Given the description of an element on the screen output the (x, y) to click on. 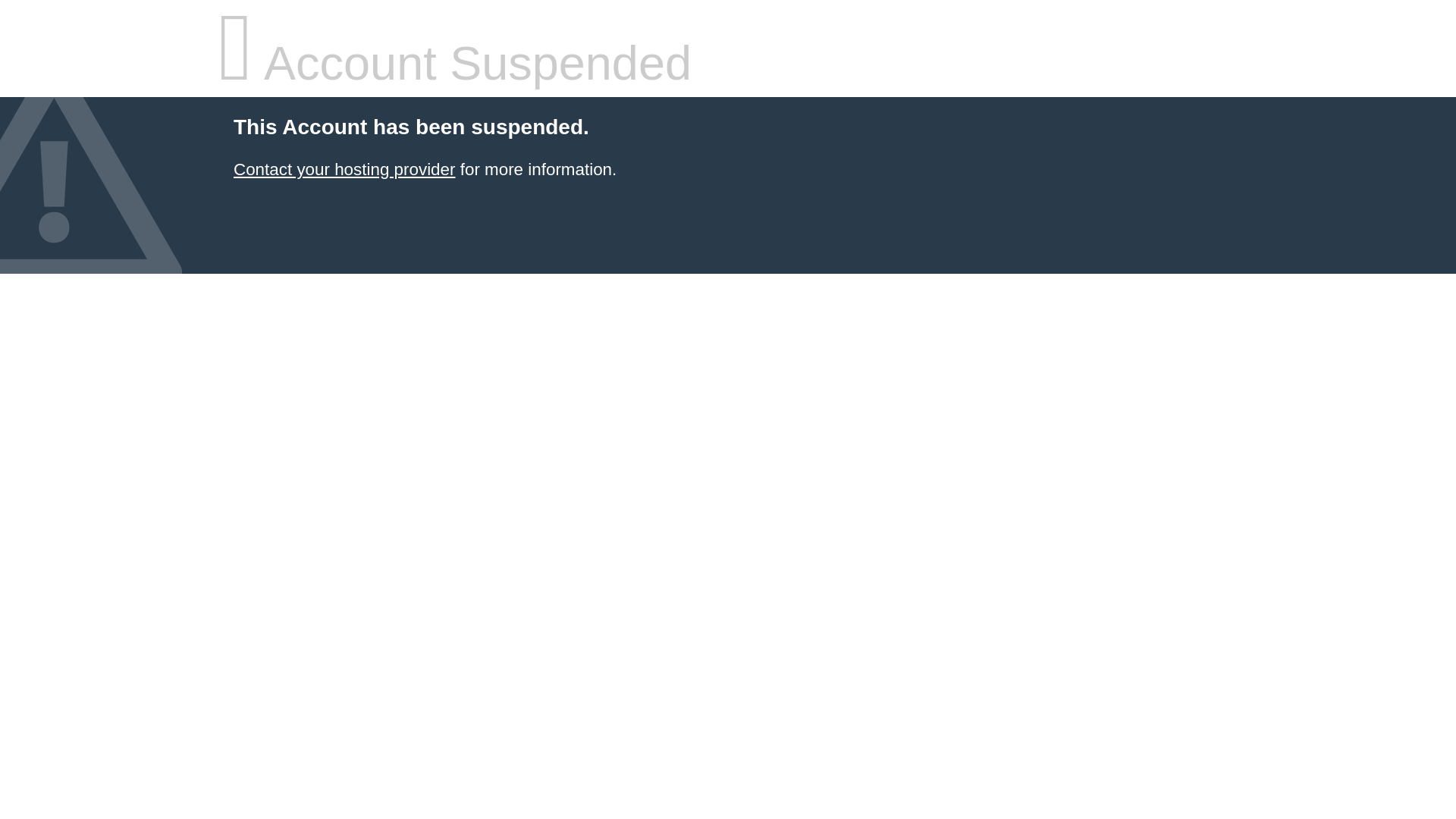
Contact your hosting provider Element type: text (344, 169)
